Given the description of an element on the screen output the (x, y) to click on. 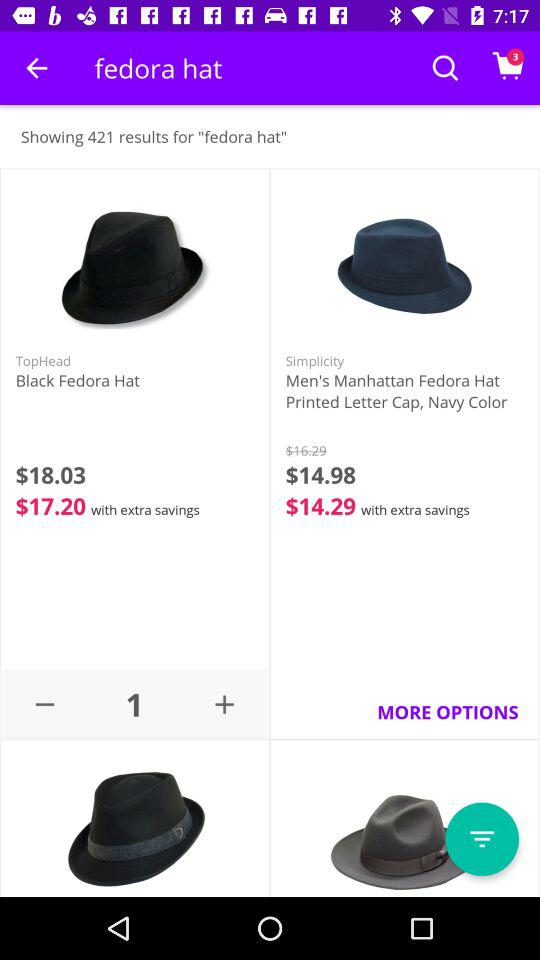
tap the icon to the left of the fedora hat item (36, 68)
